Given the description of an element on the screen output the (x, y) to click on. 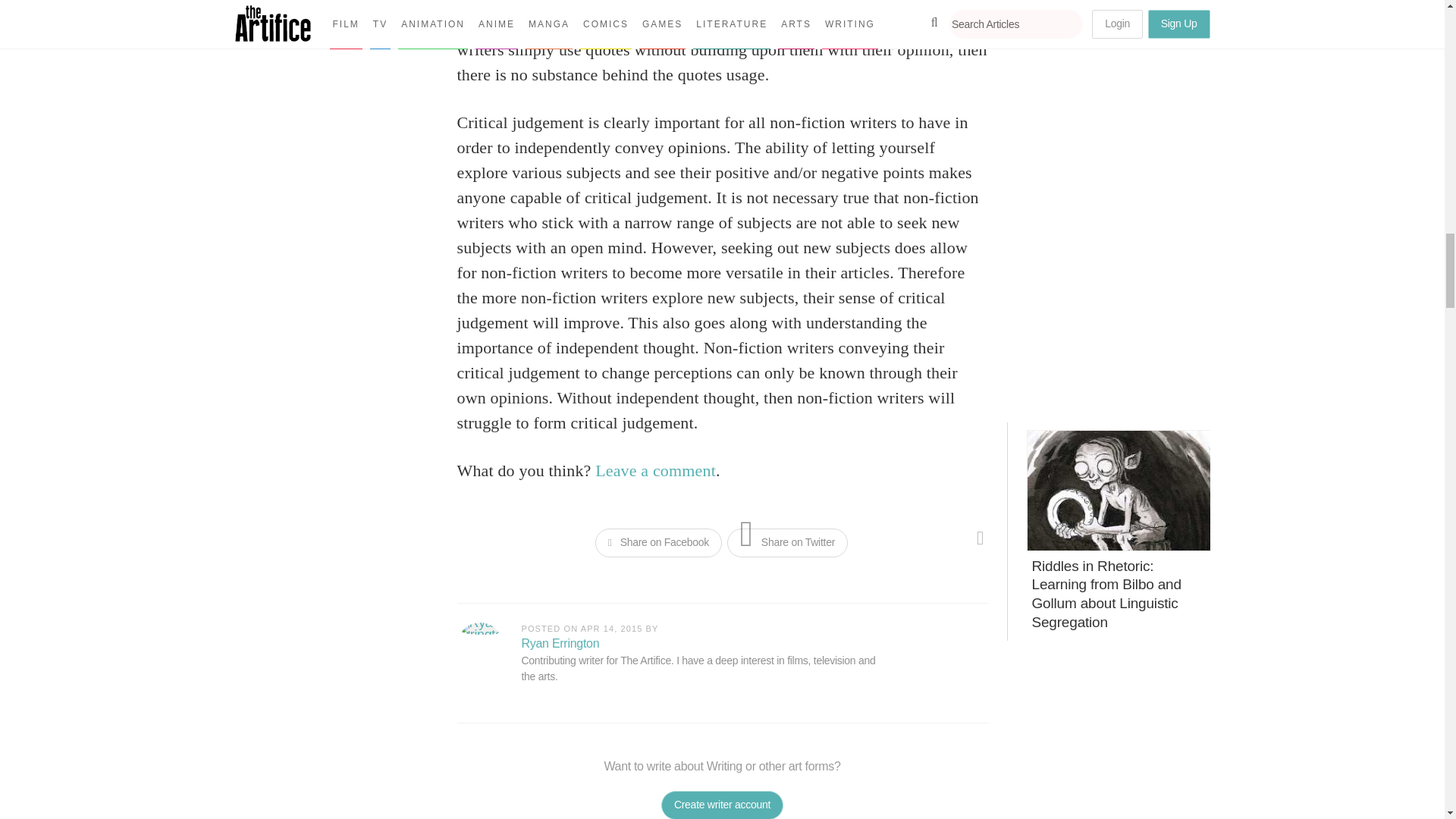
Profile of Ryan Errington (560, 643)
Leave a comment (655, 470)
Share on Twitter (786, 542)
Ryan Errington (479, 645)
Share on Facebook (658, 542)
